Given the description of an element on the screen output the (x, y) to click on. 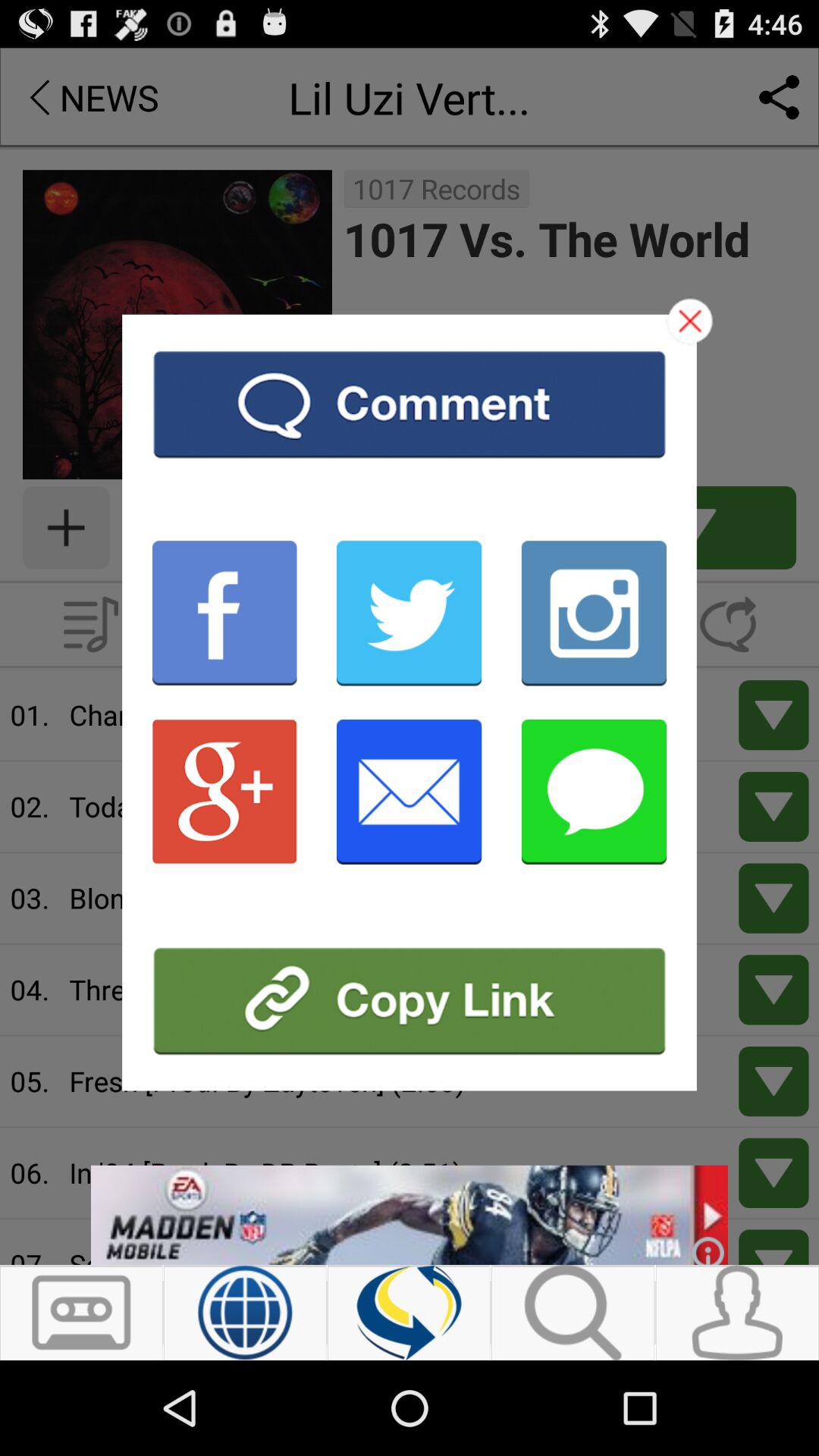
twitter page (408, 612)
